Given the description of an element on the screen output the (x, y) to click on. 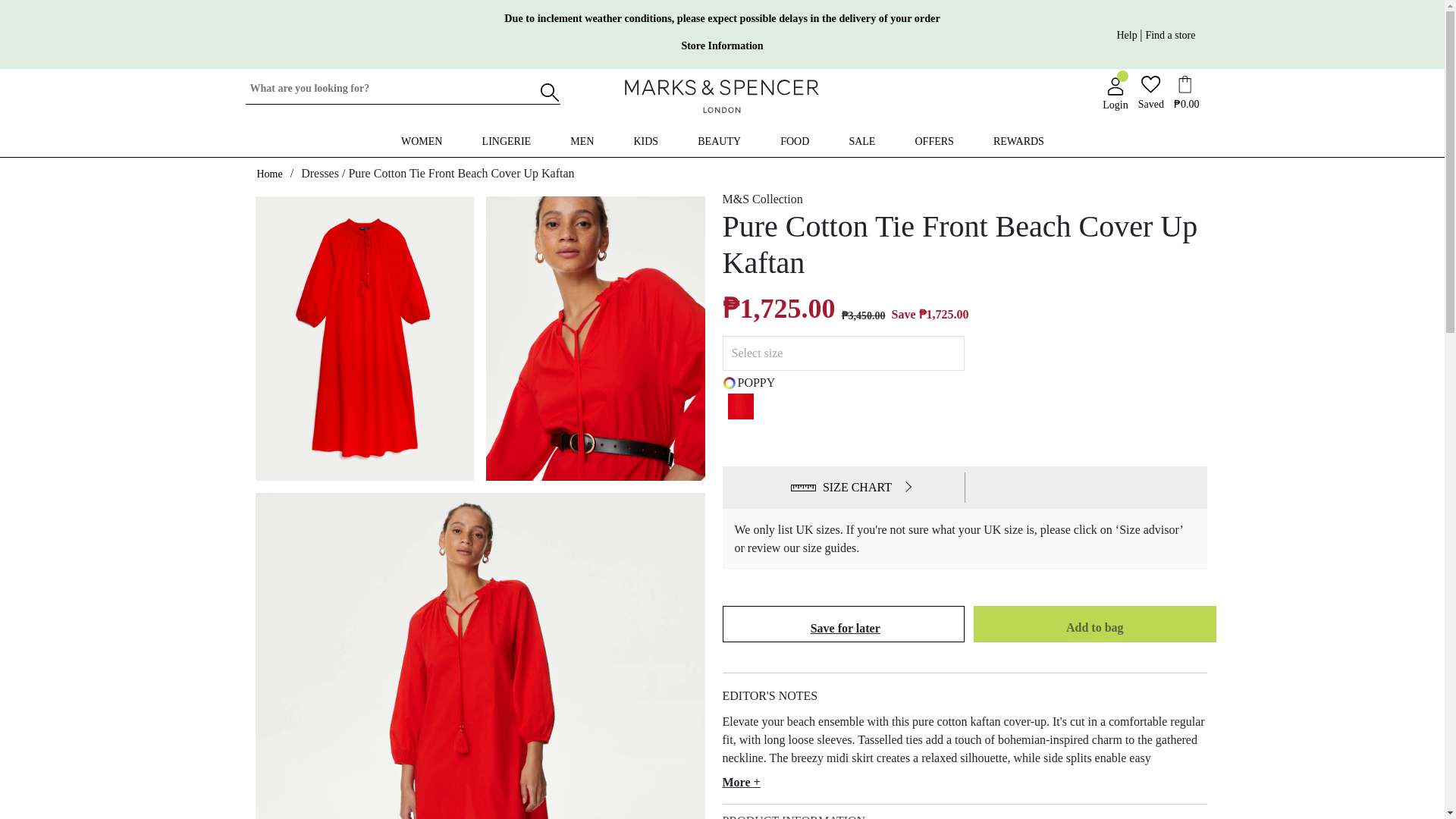
Add to bag (1094, 627)
Login (1114, 94)
WOMEN (422, 141)
Help (722, 138)
Store Information (1128, 34)
Find a store (721, 45)
